Given the description of an element on the screen output the (x, y) to click on. 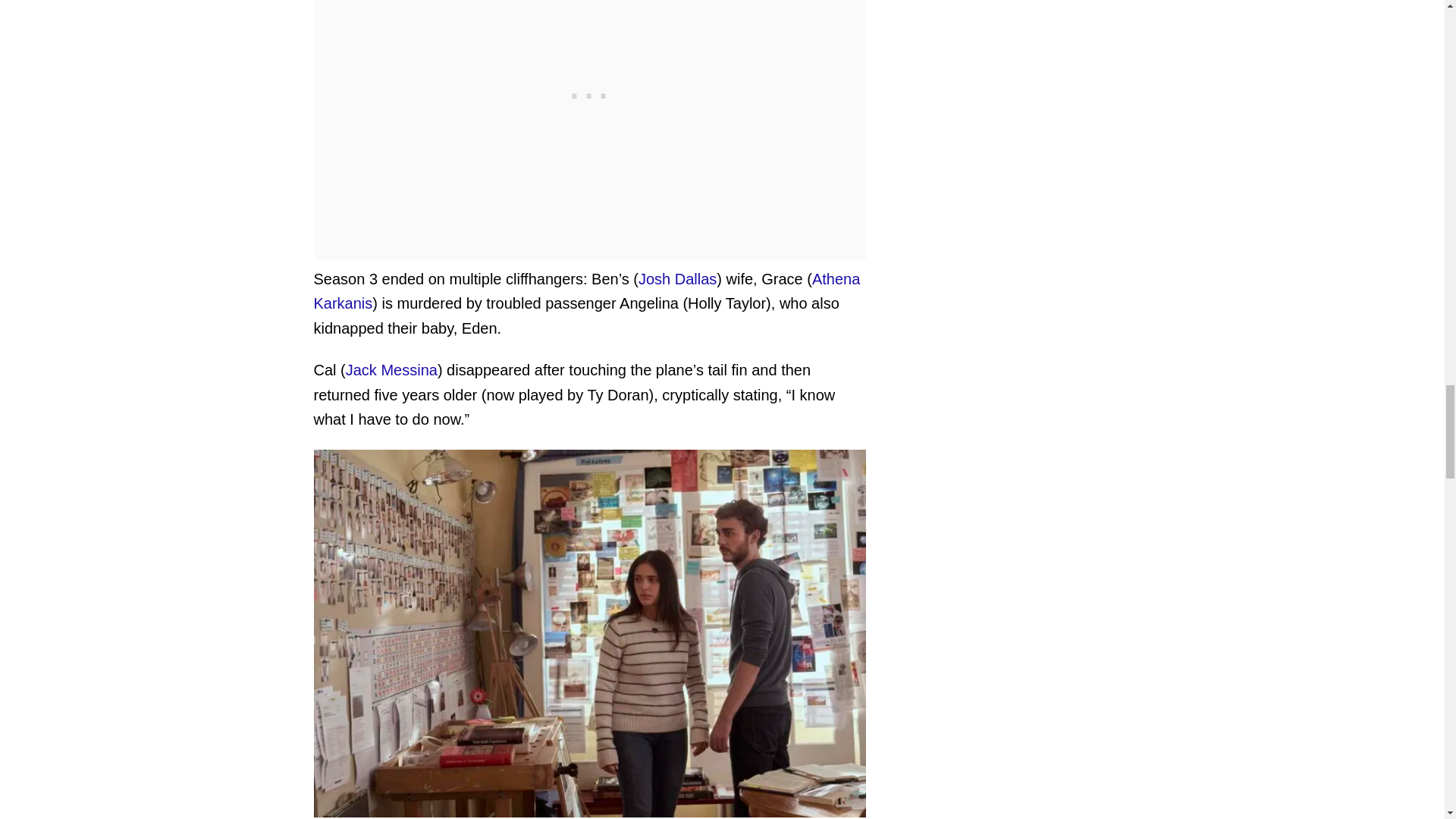
Athena Karkanis (587, 291)
Josh Dallas (677, 279)
Jack Messina (392, 369)
